Given the description of an element on the screen output the (x, y) to click on. 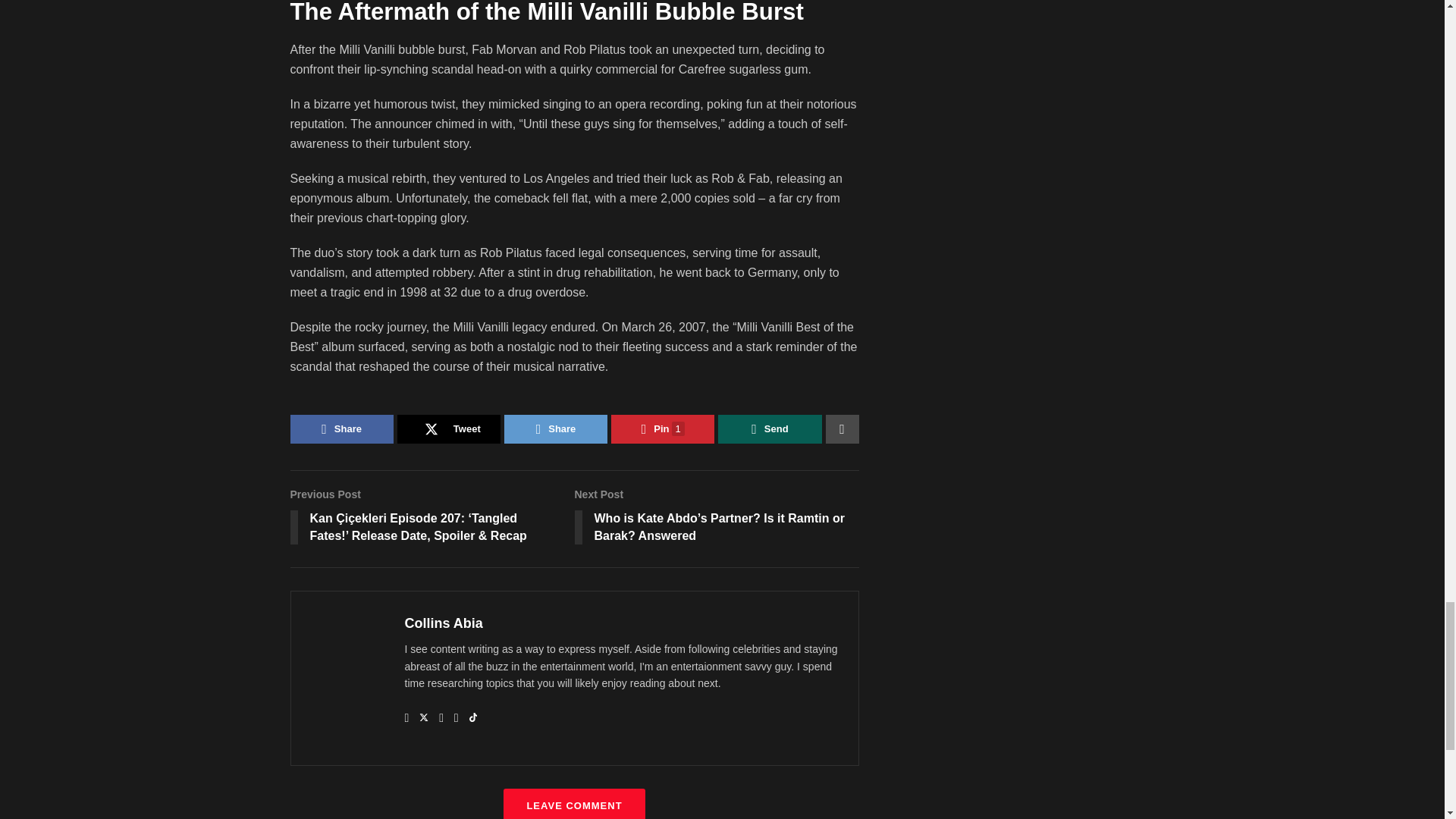
Tweet (448, 428)
Pin1 (662, 428)
Send (769, 428)
Share (555, 428)
Share (341, 428)
Collins Abia (443, 622)
